Given the description of an element on the screen output the (x, y) to click on. 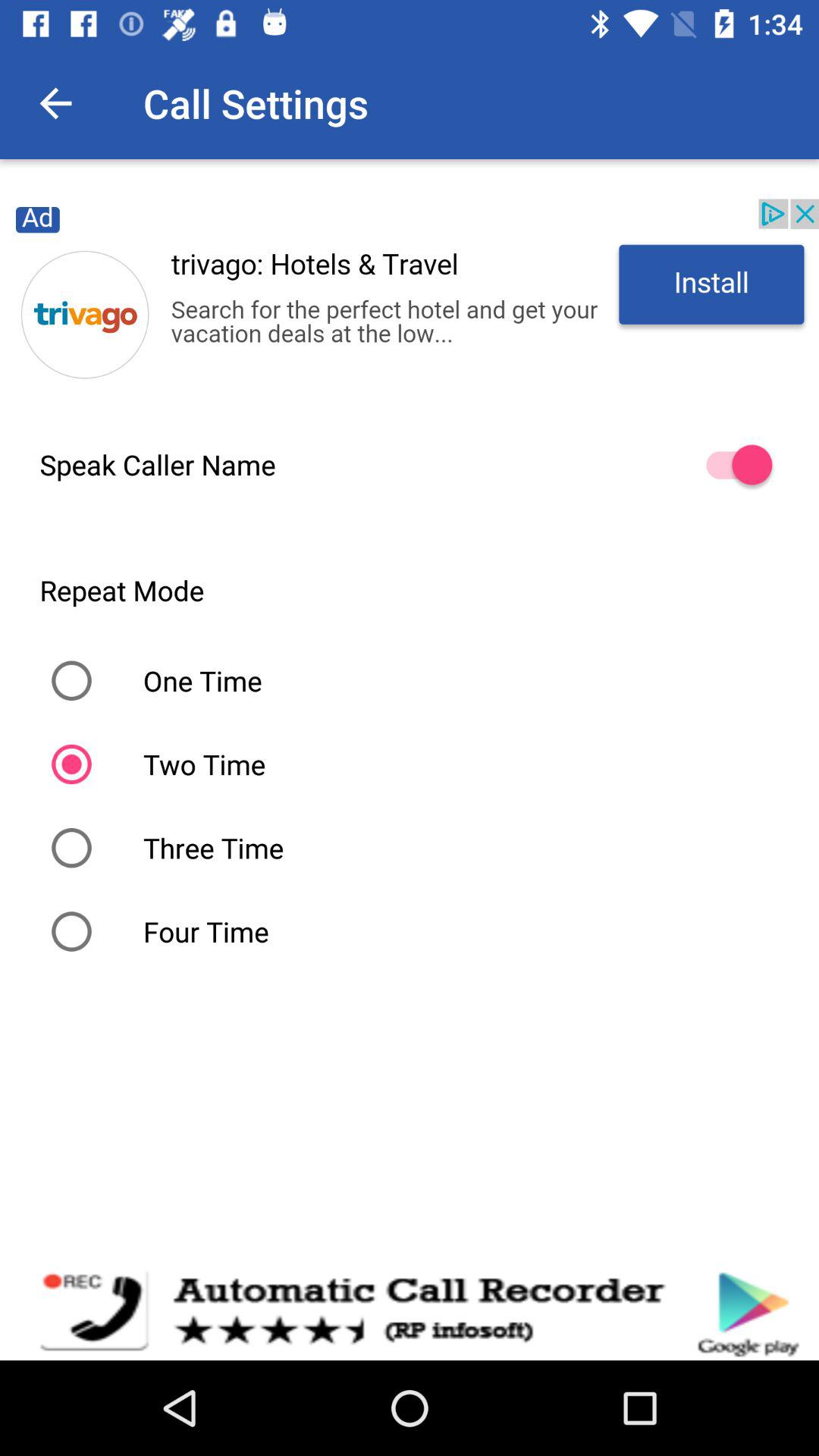
for advertisement (409, 298)
